Given the description of an element on the screen output the (x, y) to click on. 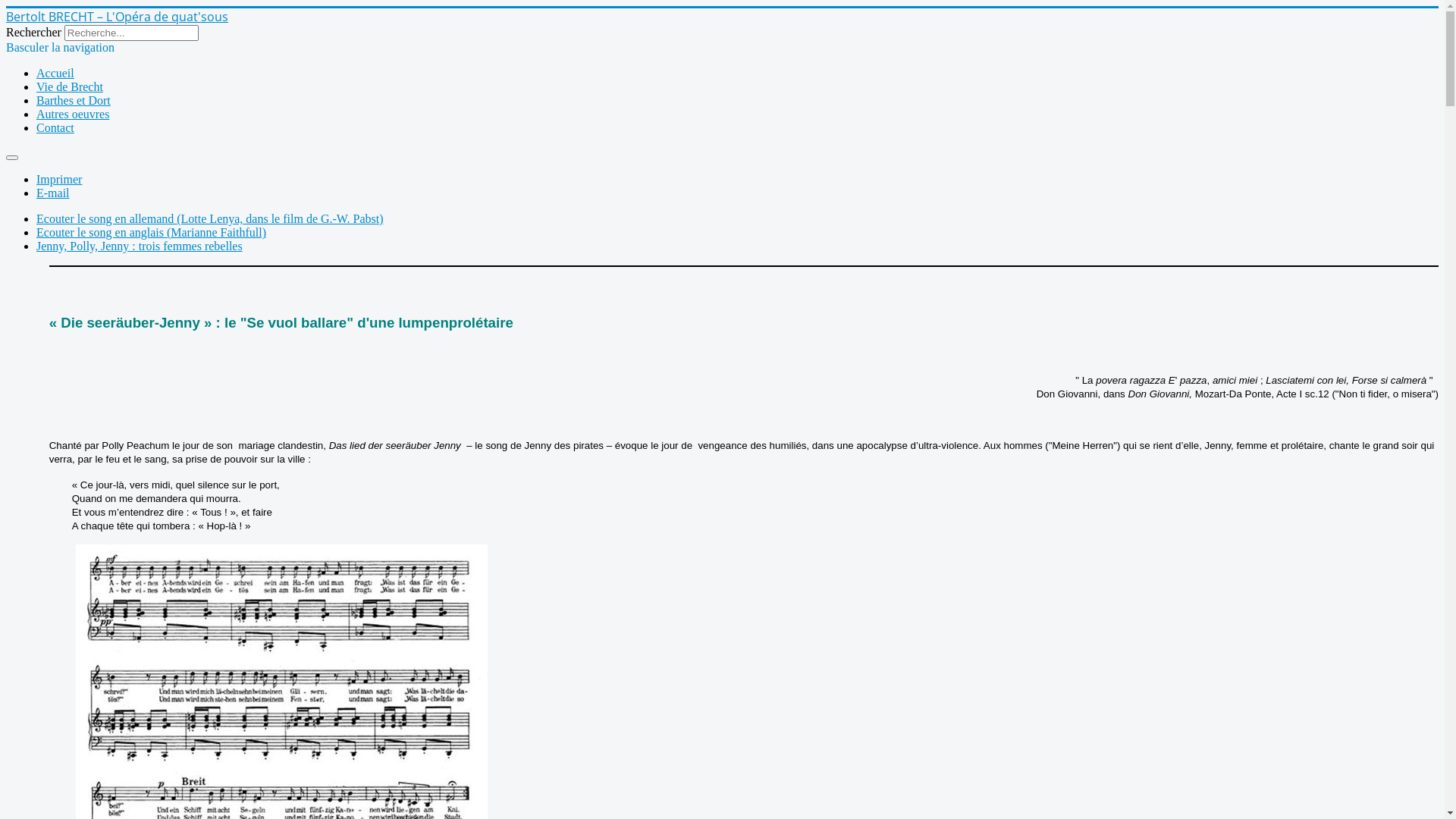
Accueil Element type: text (55, 72)
Jenny, Polly, Jenny : trois femmes rebelles Element type: text (139, 245)
Basculer la navigation Element type: text (60, 46)
Contact Element type: text (55, 127)
Barthes et Dort Element type: text (73, 100)
Vie de Brecht Element type: text (69, 86)
E-mail Element type: text (52, 192)
Autres oeuvres Element type: text (72, 113)
Imprimer Element type: text (58, 178)
Ecouter le song en anglais (Marianne Faithfull) Element type: text (151, 231)
